Given the description of an element on the screen output the (x, y) to click on. 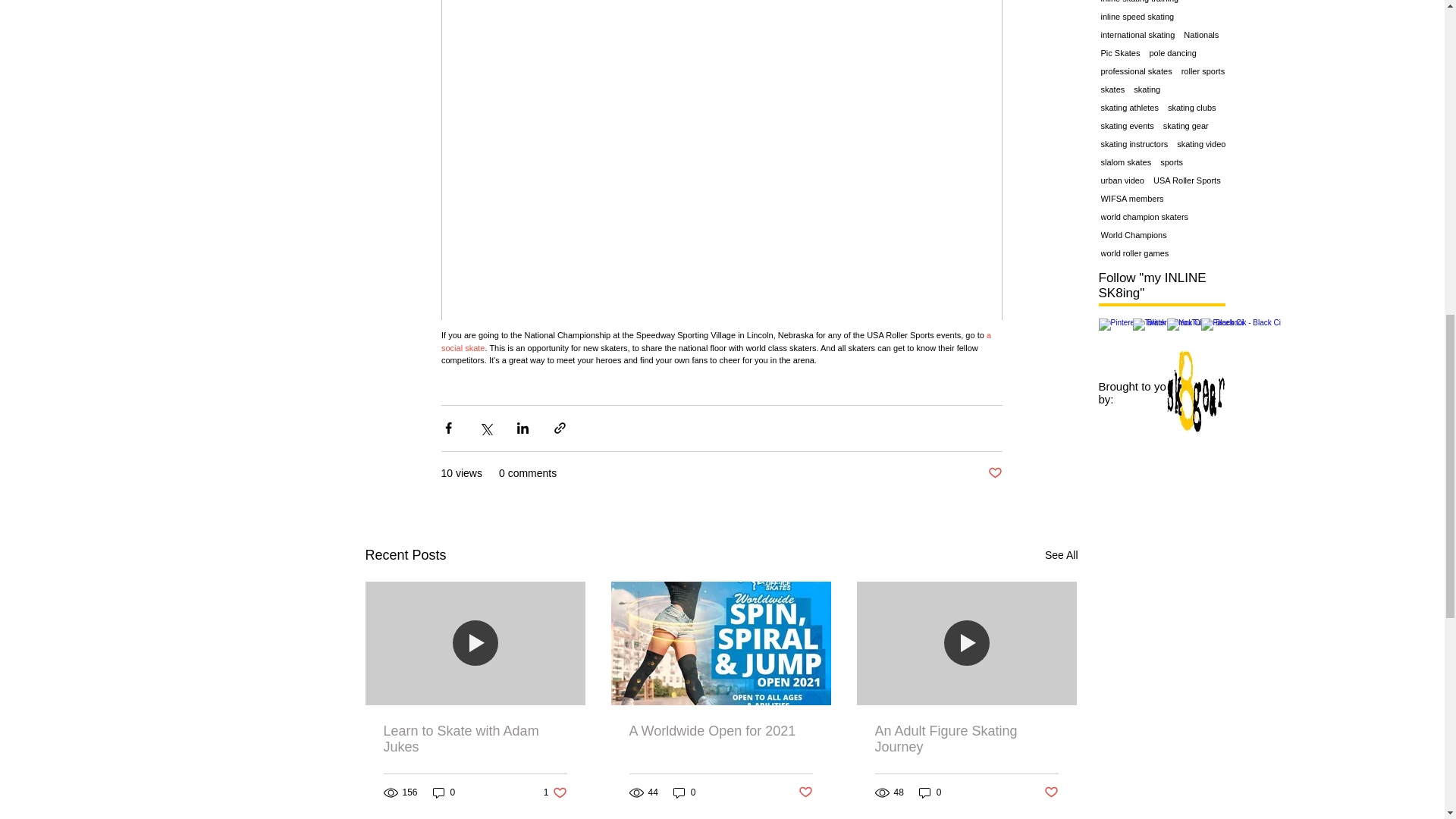
 a social skate (716, 341)
